Given the description of an element on the screen output the (x, y) to click on. 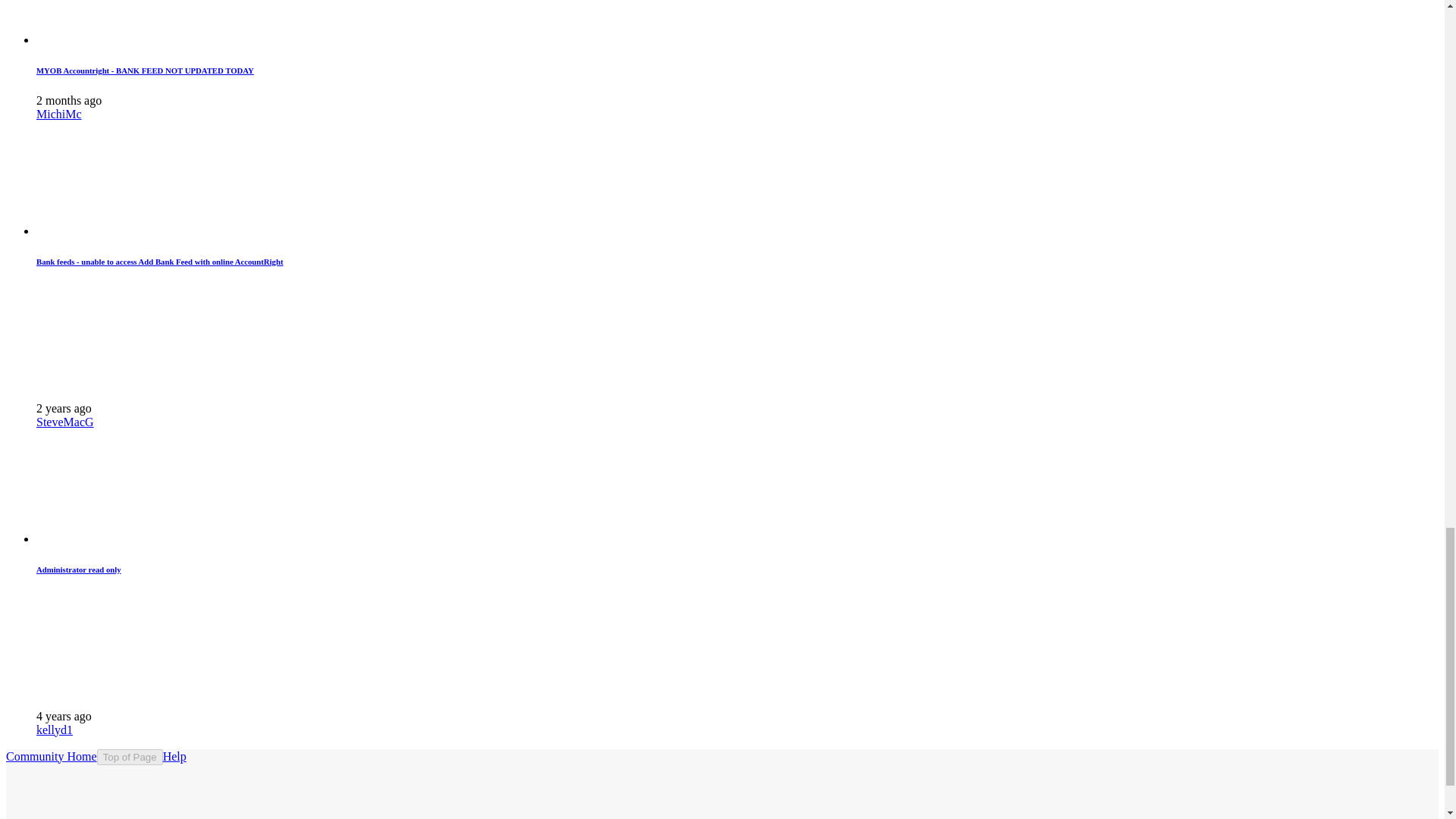
MYOB Accountright - BANK FEED NOT UPDATED TODAY (144, 70)
Administrator read only (78, 569)
June 26, 2024 at 1:32 AM (68, 100)
SteveMacG (65, 421)
November 15, 2022 at 11:13 PM (63, 408)
July 14, 2021 at 3:20 AM (63, 716)
kellyd1 (54, 729)
MichiMc (58, 113)
